Given the description of an element on the screen output the (x, y) to click on. 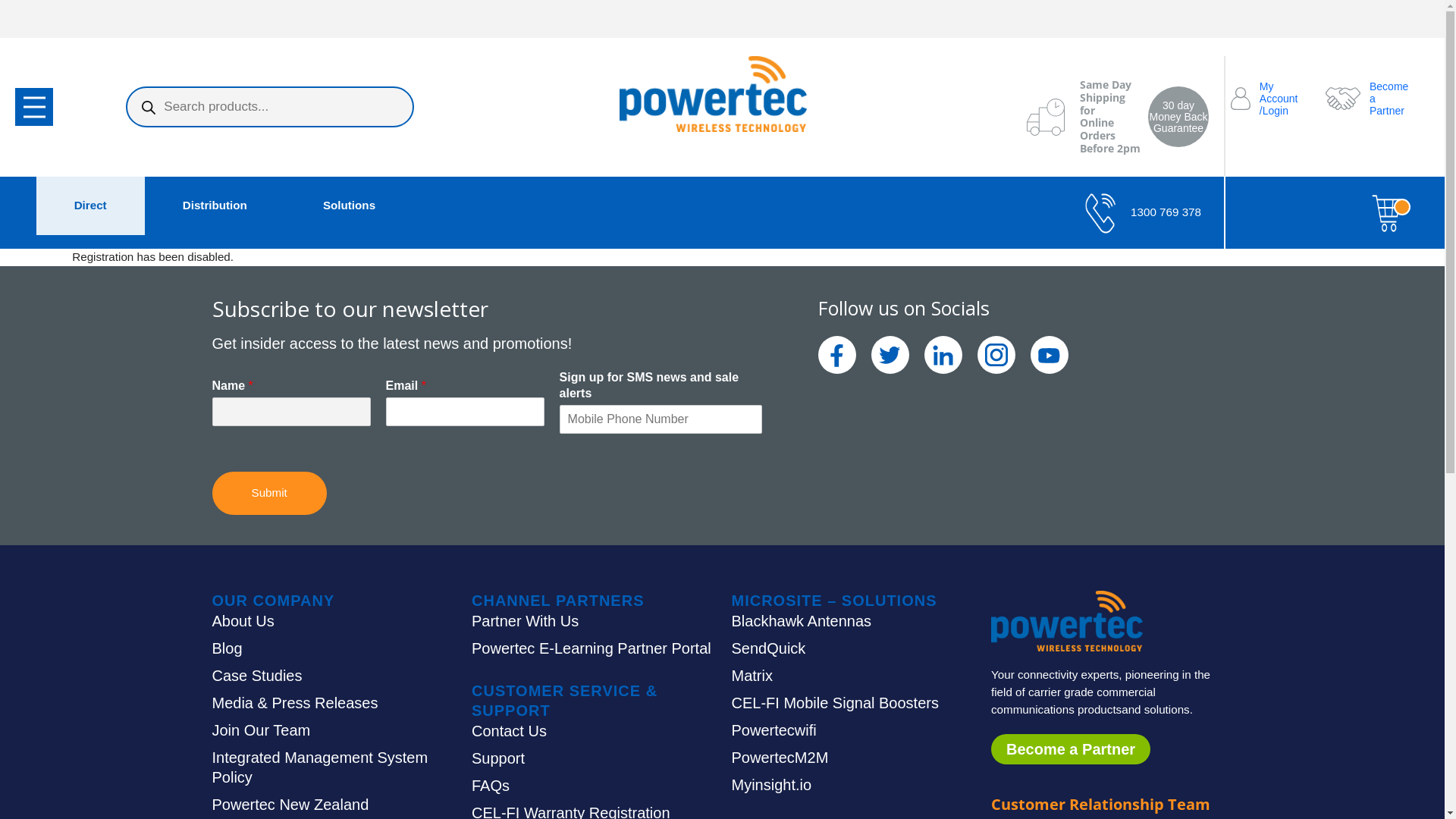
Join Our Team Element type: text (261, 730)
My Account
/Login Element type: text (1272, 98)
Contact Us Element type: text (508, 730)
Integrated Management System Policy Element type: text (320, 767)
Submit Element type: text (269, 492)
Matrix Element type: text (751, 675)
SendQuick Element type: text (768, 648)
About Us Element type: text (243, 620)
CEL-FI Mobile Signal Boosters Element type: text (834, 702)
Direct Element type: text (90, 204)
1300 769 378 Element type: text (1143, 212)
Case Studies Element type: text (257, 675)
Media & Press Releases Element type: text (295, 702)
Become a Partner Element type: text (1070, 749)
Powertec New Zealand Element type: text (290, 804)
FAQs Element type: text (490, 785)
Solutions Element type: text (349, 204)
Blog Element type: text (227, 648)
Blackhawk Antennas Element type: text (801, 620)
Myinsight.io Element type: text (771, 784)
PowertecM2M Element type: text (779, 757)
Support Element type: text (497, 758)
Distribution Element type: text (214, 204)
Powertec E-Learning Partner Portal Element type: text (591, 648)
Partner With Us Element type: text (524, 620)
Powertecwifi Element type: text (773, 730)
Become
a Partner Element type: text (1368, 98)
